Given the description of an element on the screen output the (x, y) to click on. 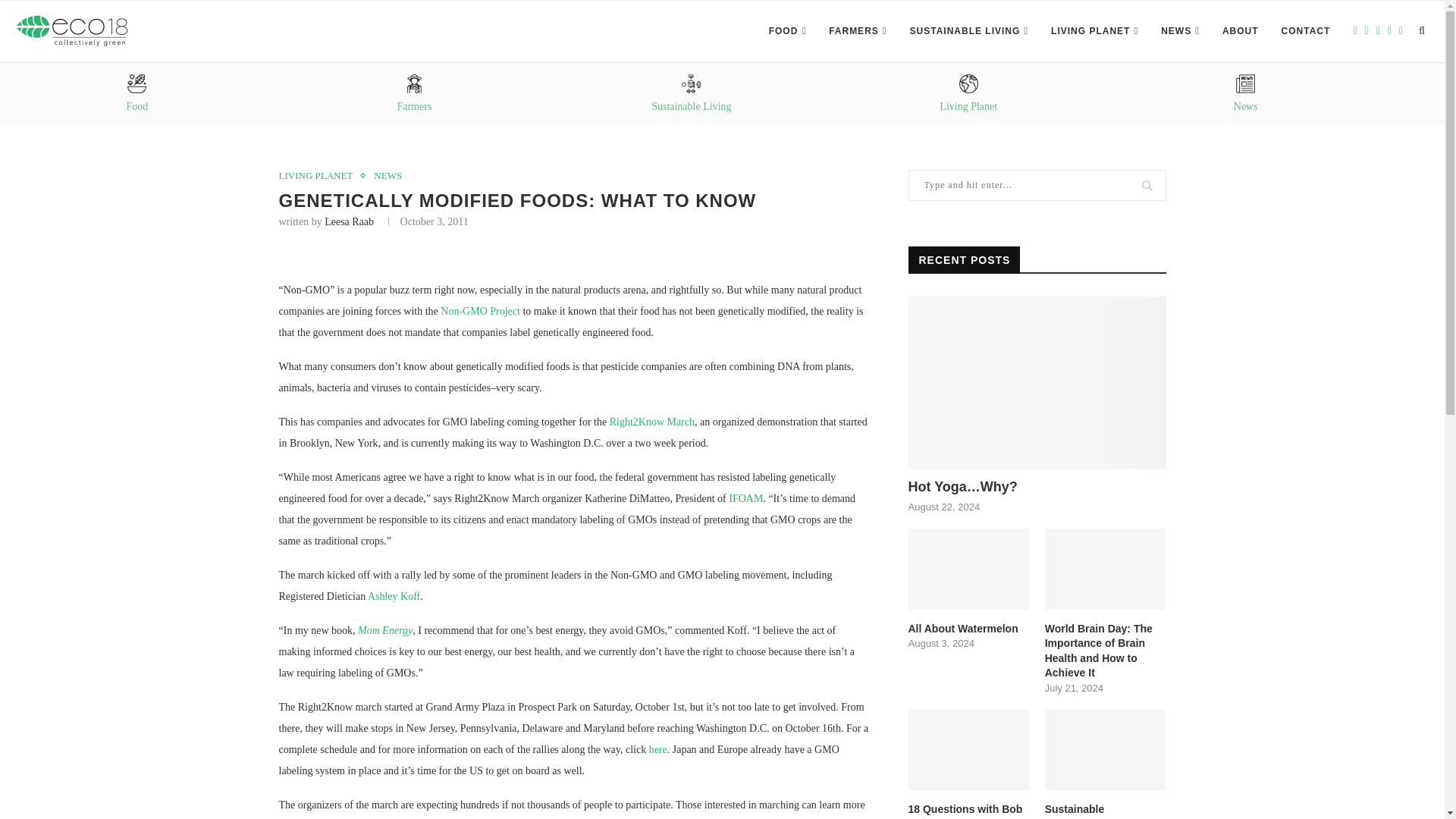
here (657, 749)
Ashley Koff (394, 595)
FARMERS (857, 30)
Mom Energy (385, 630)
Right2Know March (652, 421)
